Given the description of an element on the screen output the (x, y) to click on. 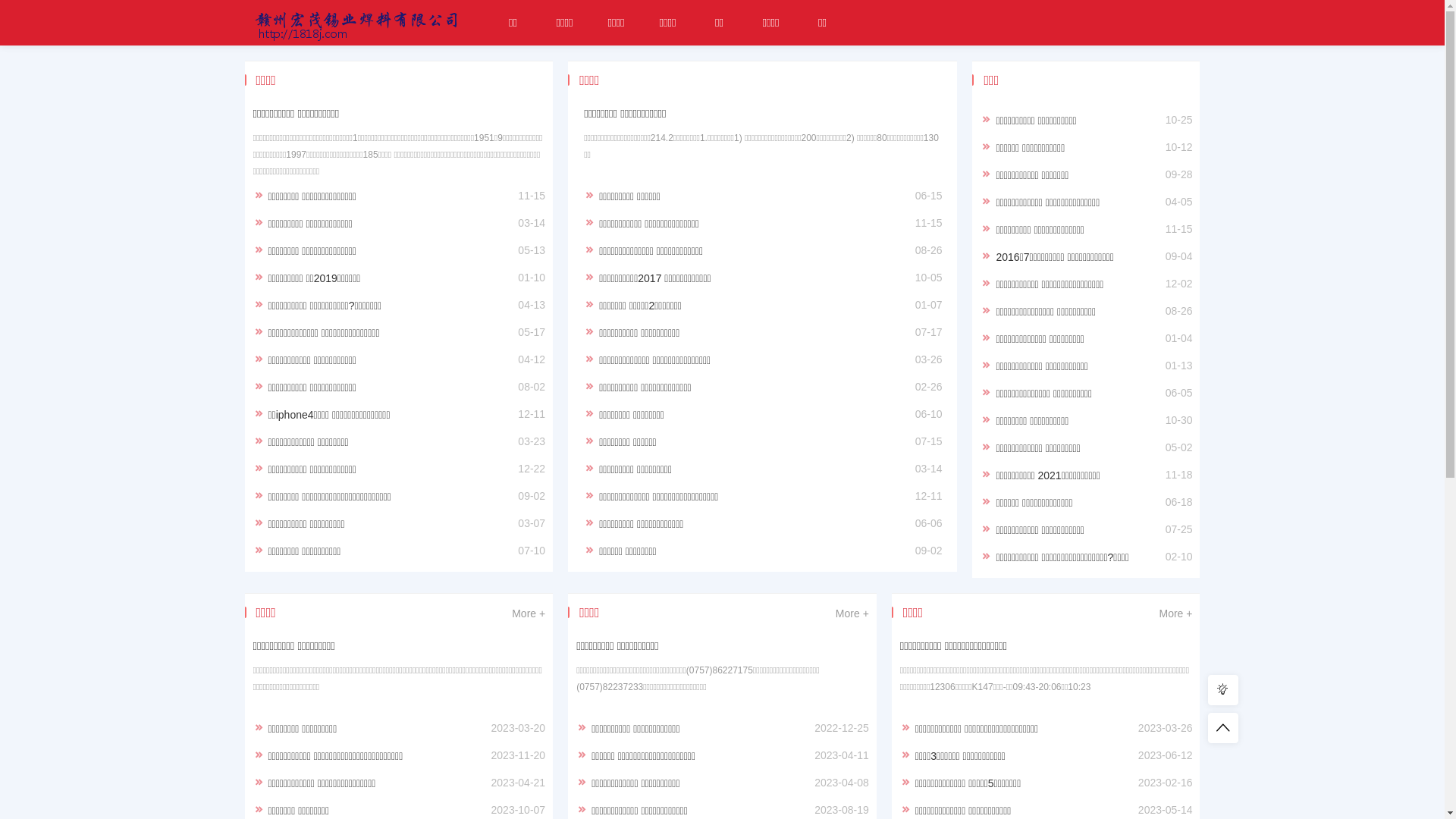
More + Element type: text (1175, 613)
More + Element type: text (852, 613)
More + Element type: text (528, 613)
